Given the description of an element on the screen output the (x, y) to click on. 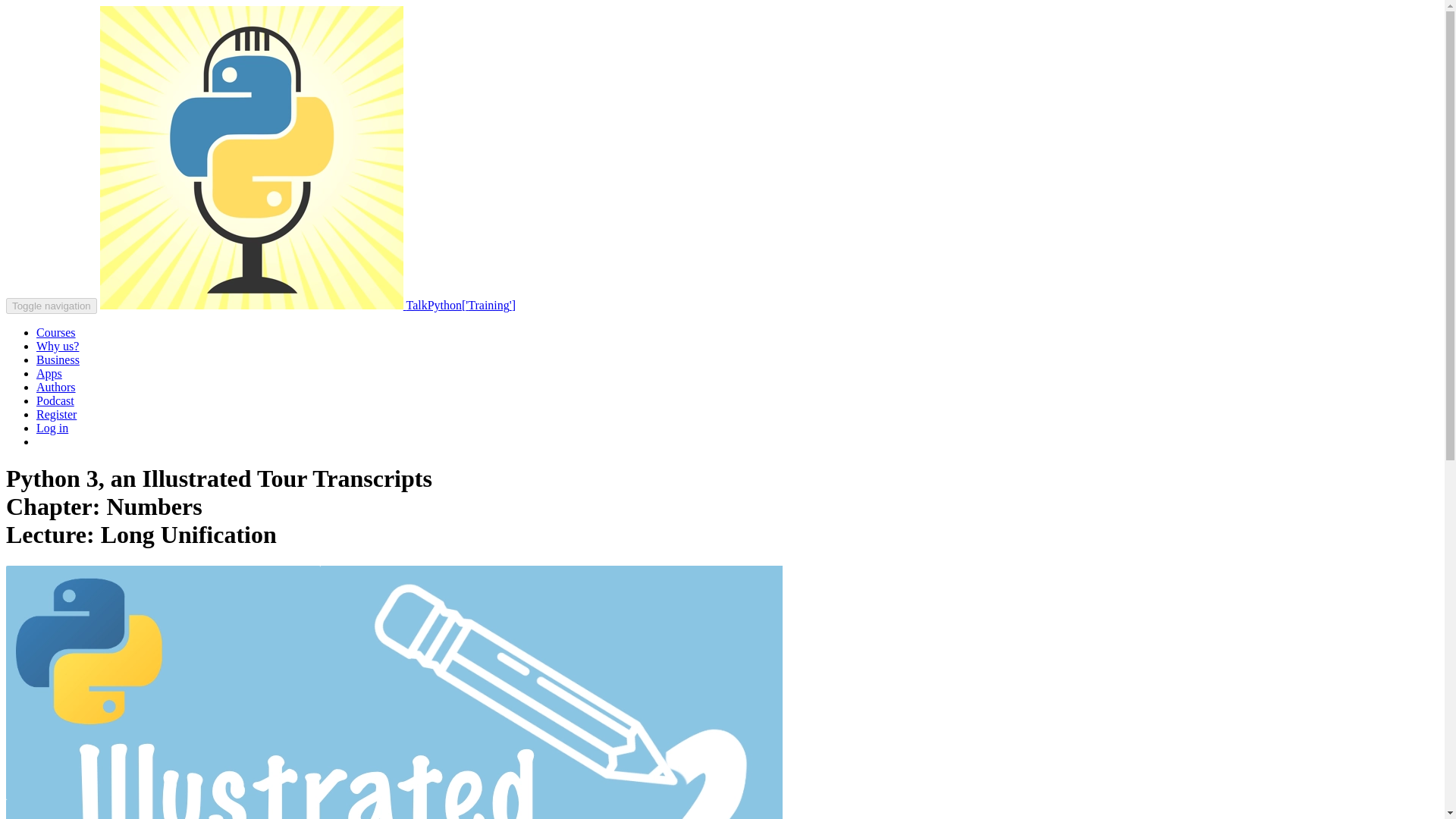
Log in (52, 427)
Toggle navigation (51, 305)
Create a free account (56, 413)
Register (56, 413)
Authors (55, 386)
Why us? (57, 345)
Apps (49, 373)
Find your next Python course (55, 332)
Listen to the Talk Python To Me podcast (55, 400)
Podcast (55, 400)
Business (58, 359)
Courses (55, 332)
See our special pricing for enterprise and corporate teams (58, 359)
